Given the description of an element on the screen output the (x, y) to click on. 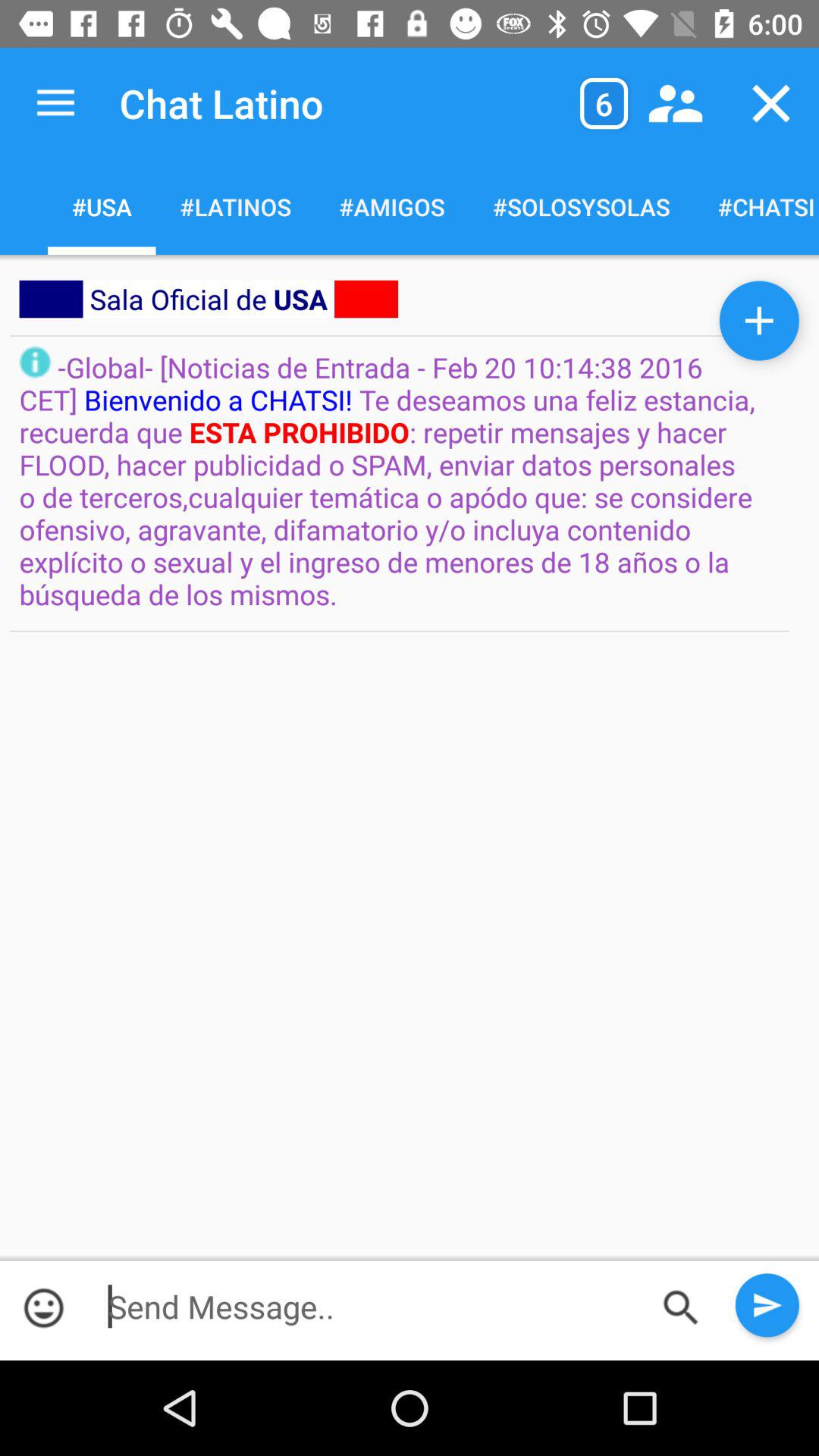
press the 6 (603, 103)
